Given the description of an element on the screen output the (x, y) to click on. 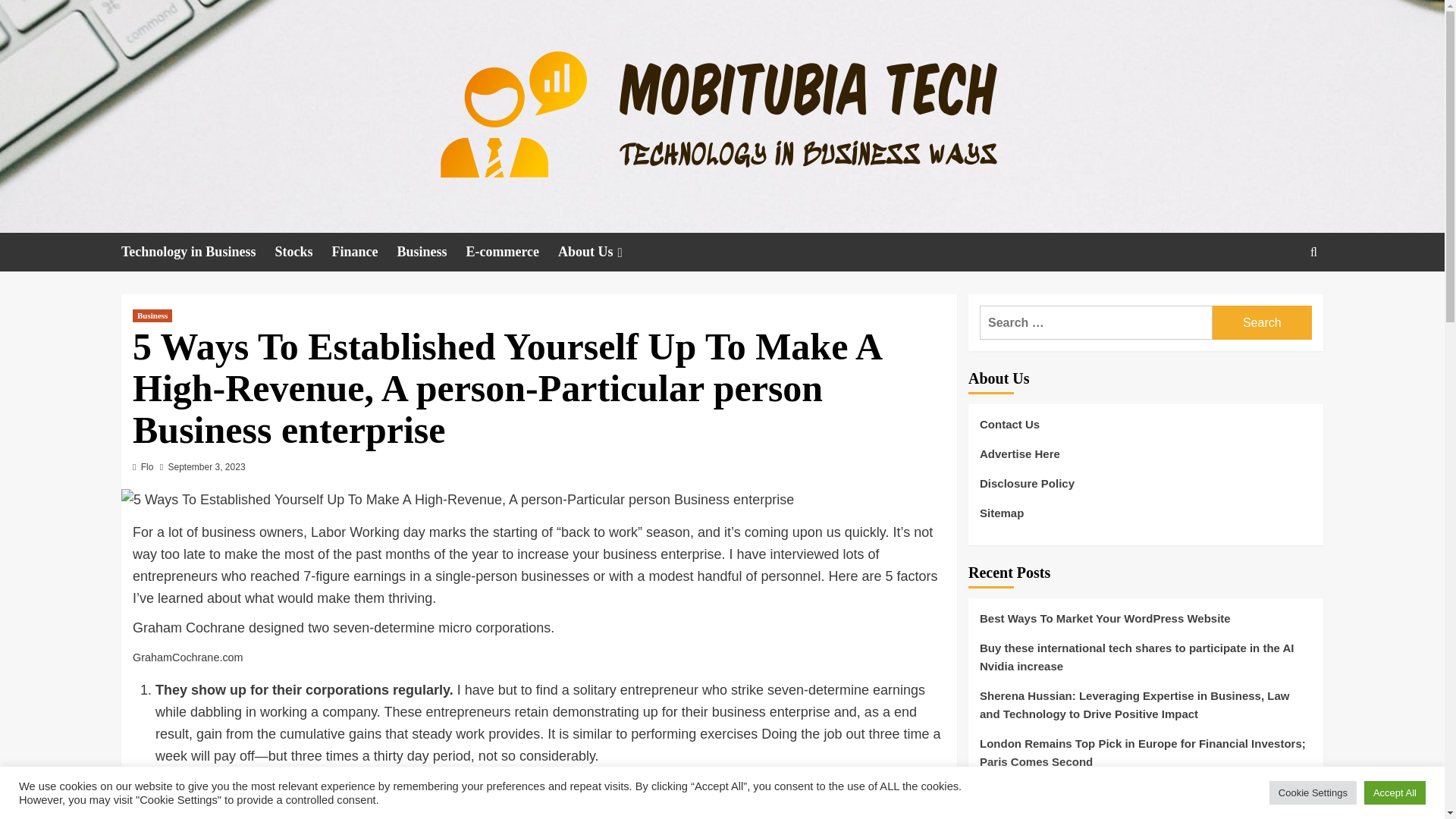
Business (430, 251)
September 3, 2023 (205, 466)
Stocks (303, 251)
Search (1261, 322)
Technology in Business (197, 251)
About Us (601, 251)
Search (1261, 322)
E-commerce (511, 251)
Search (1278, 298)
Business (151, 315)
Finance (363, 251)
Flo (147, 466)
